Given the description of an element on the screen output the (x, y) to click on. 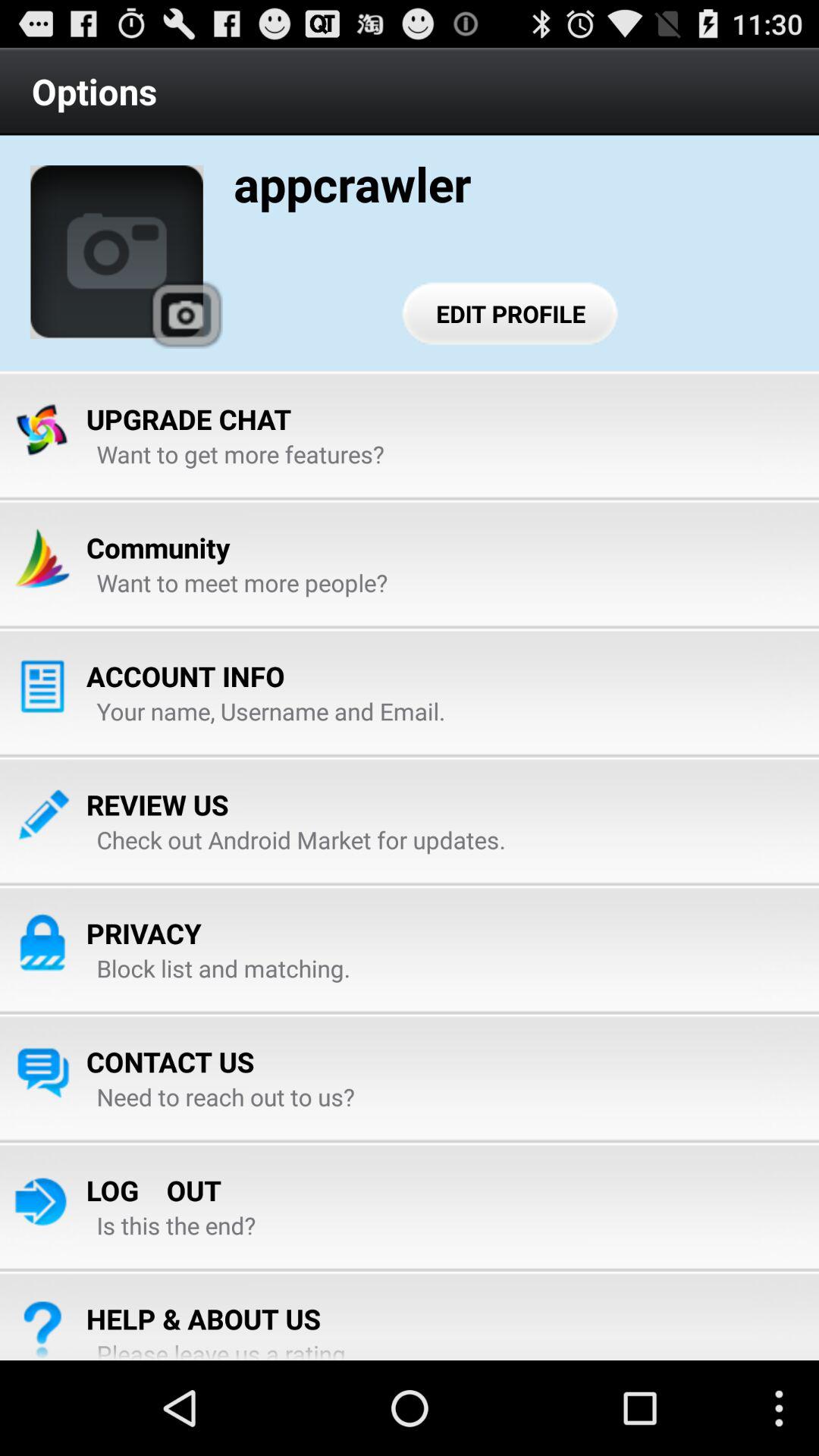
turn off item at the center (300, 839)
